Given the description of an element on the screen output the (x, y) to click on. 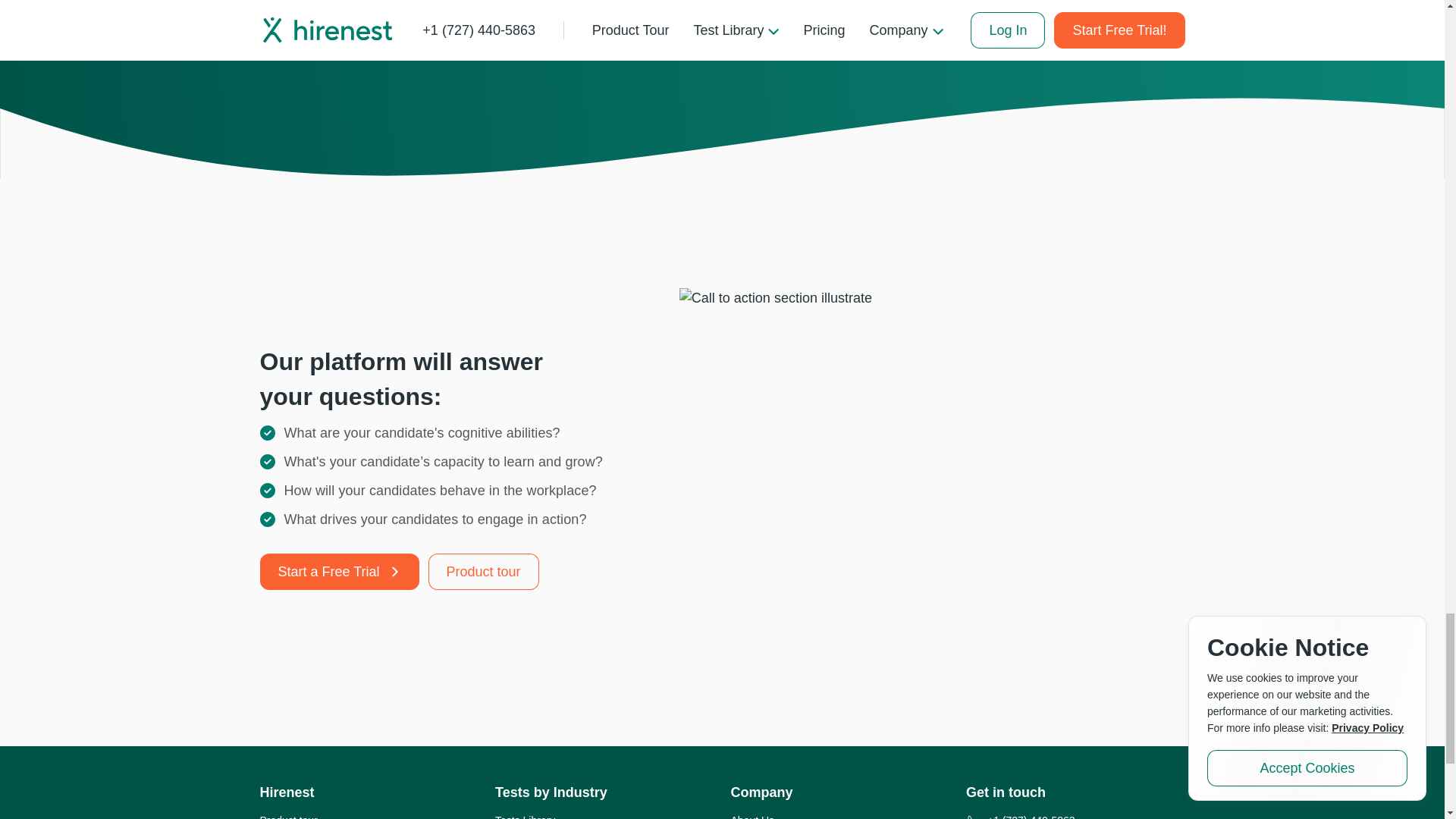
Tests Library (524, 815)
About Us (752, 815)
Product tour (483, 571)
Product tour (288, 815)
Hirenest (286, 792)
Start a Free Trial (339, 571)
Tests by Industry (551, 792)
